Given the description of an element on the screen output the (x, y) to click on. 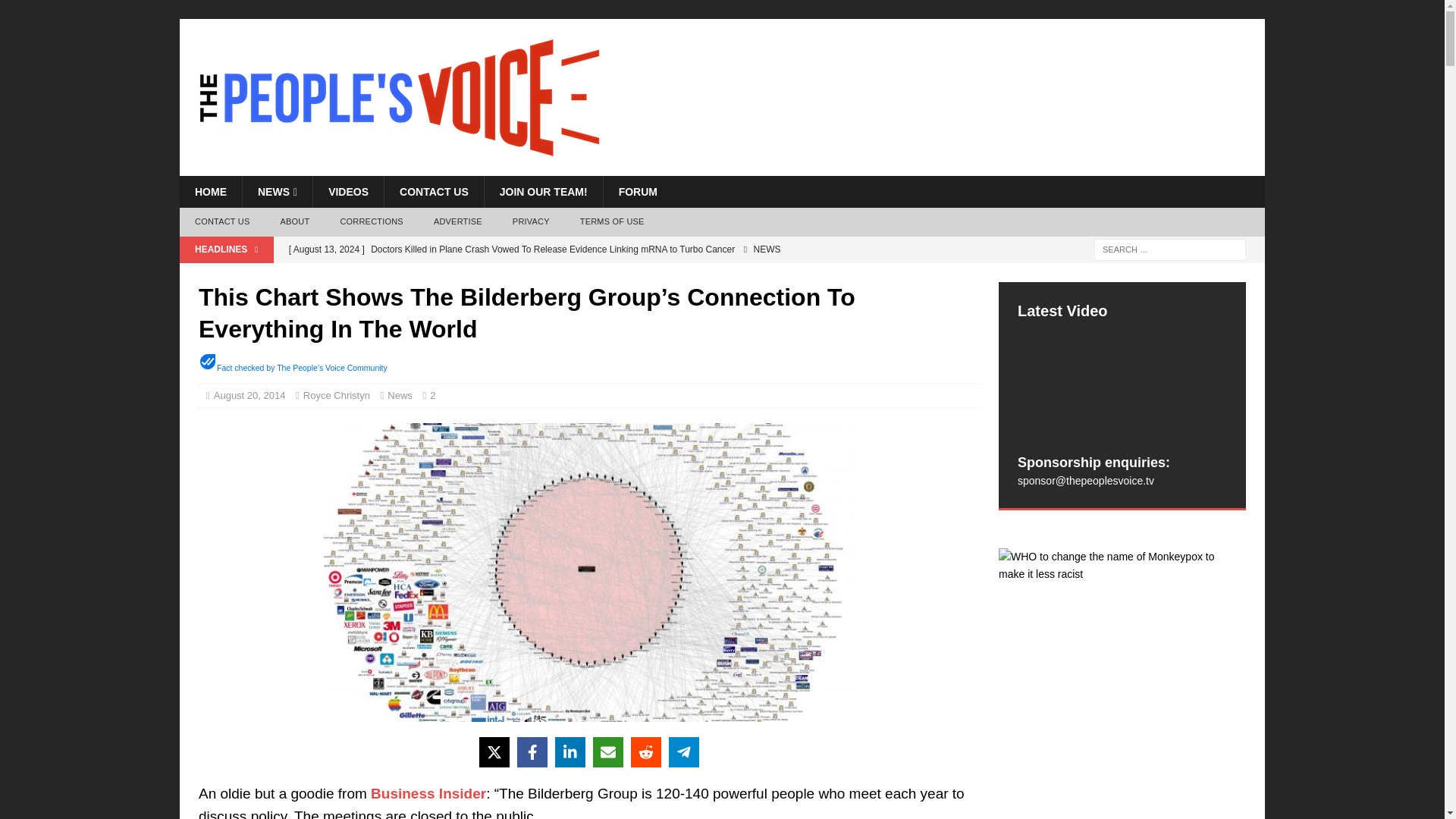
Royce Christyn (335, 395)
CORRECTIONS (370, 222)
CONTACT US (433, 192)
News (399, 395)
JOIN OUR TEAM! (542, 192)
CONTACT US (221, 222)
FORUM (637, 192)
2 (435, 395)
